Given the description of an element on the screen output the (x, y) to click on. 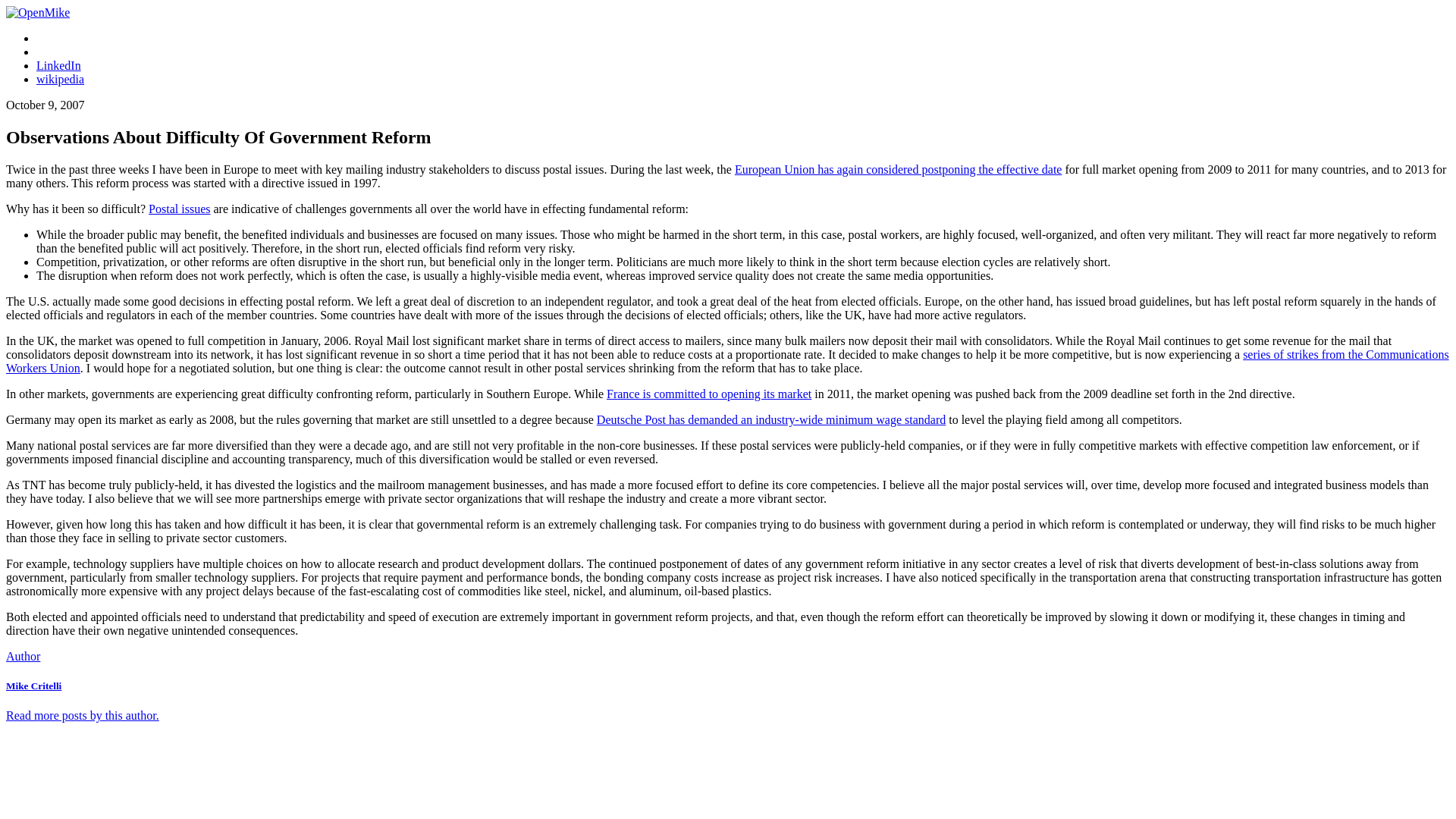
wikipedia (60, 78)
France is committed to opening its market (708, 393)
Postal issues (178, 208)
wikipedia (60, 78)
LinkedIn (58, 65)
LinkedIn (58, 65)
